Given the description of an element on the screen output the (x, y) to click on. 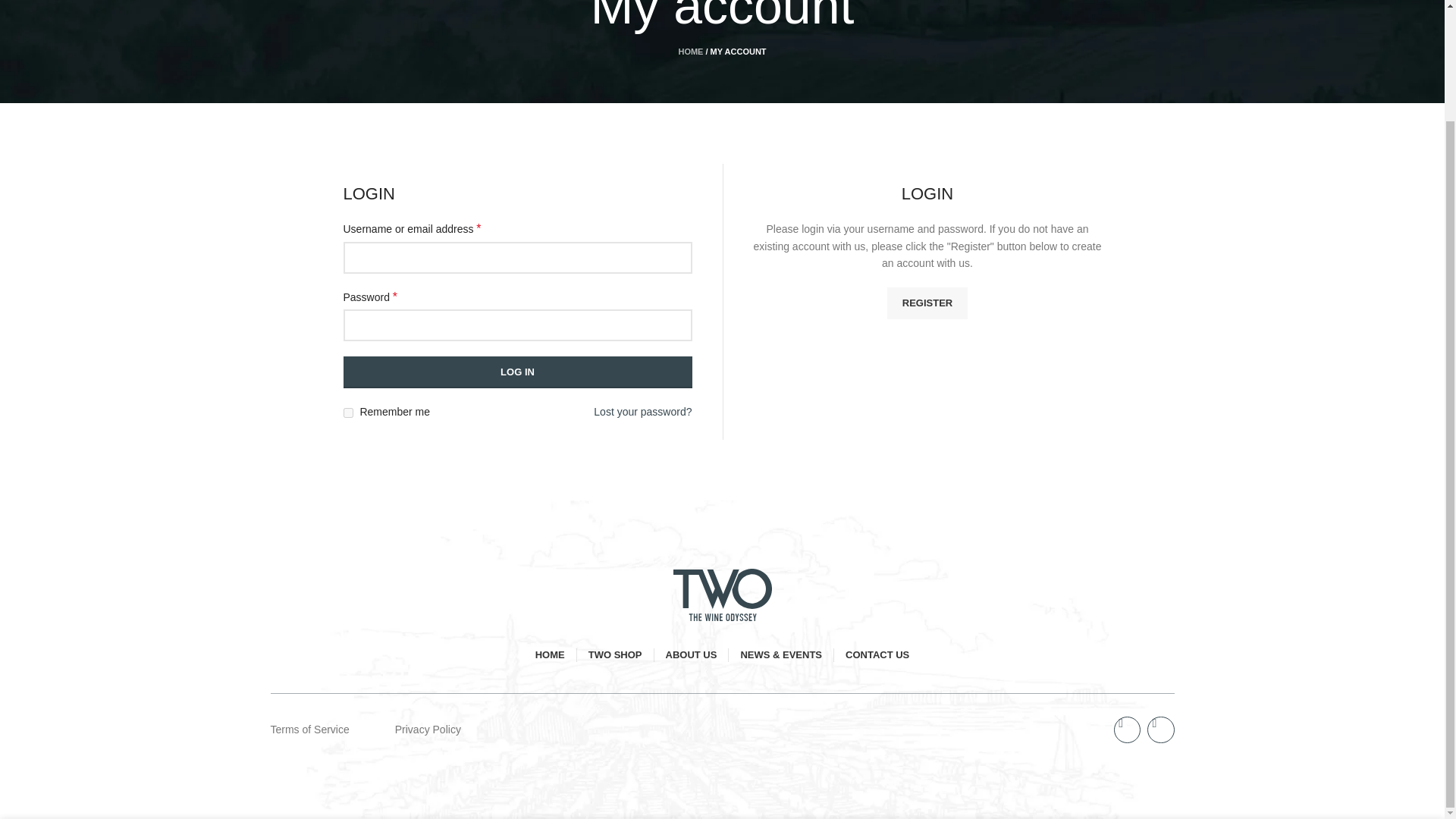
HOME (690, 51)
CONTACT US (876, 654)
forever (347, 412)
TWO SHOP (615, 654)
Lost your password? (642, 411)
TWO logo color (721, 594)
Privacy Policy (427, 729)
LOG IN (516, 372)
REGISTER (927, 303)
HOME (549, 654)
Terms of Service (309, 729)
ABOUT US (691, 654)
Remember me (347, 412)
